Given the description of an element on the screen output the (x, y) to click on. 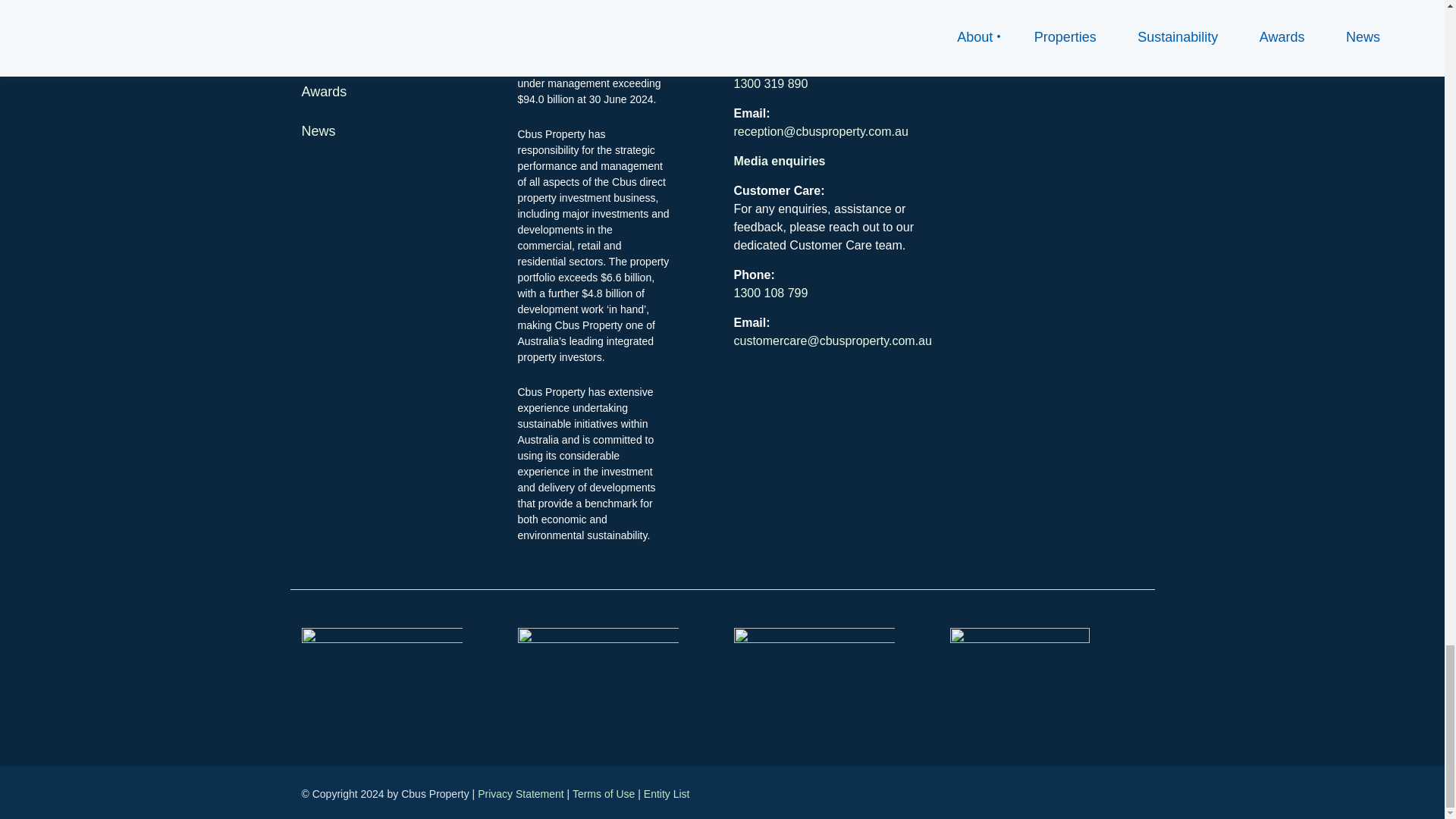
Melbourne (762, 35)
Media enquiries (779, 160)
Level 14, 447 Collins Street, (809, 17)
Entity List  (668, 793)
Sustainability (341, 52)
News (318, 131)
1300 319 890 (770, 83)
1300 108 799 (770, 292)
Properties (332, 13)
Privacy Statement (520, 793)
